Given the description of an element on the screen output the (x, y) to click on. 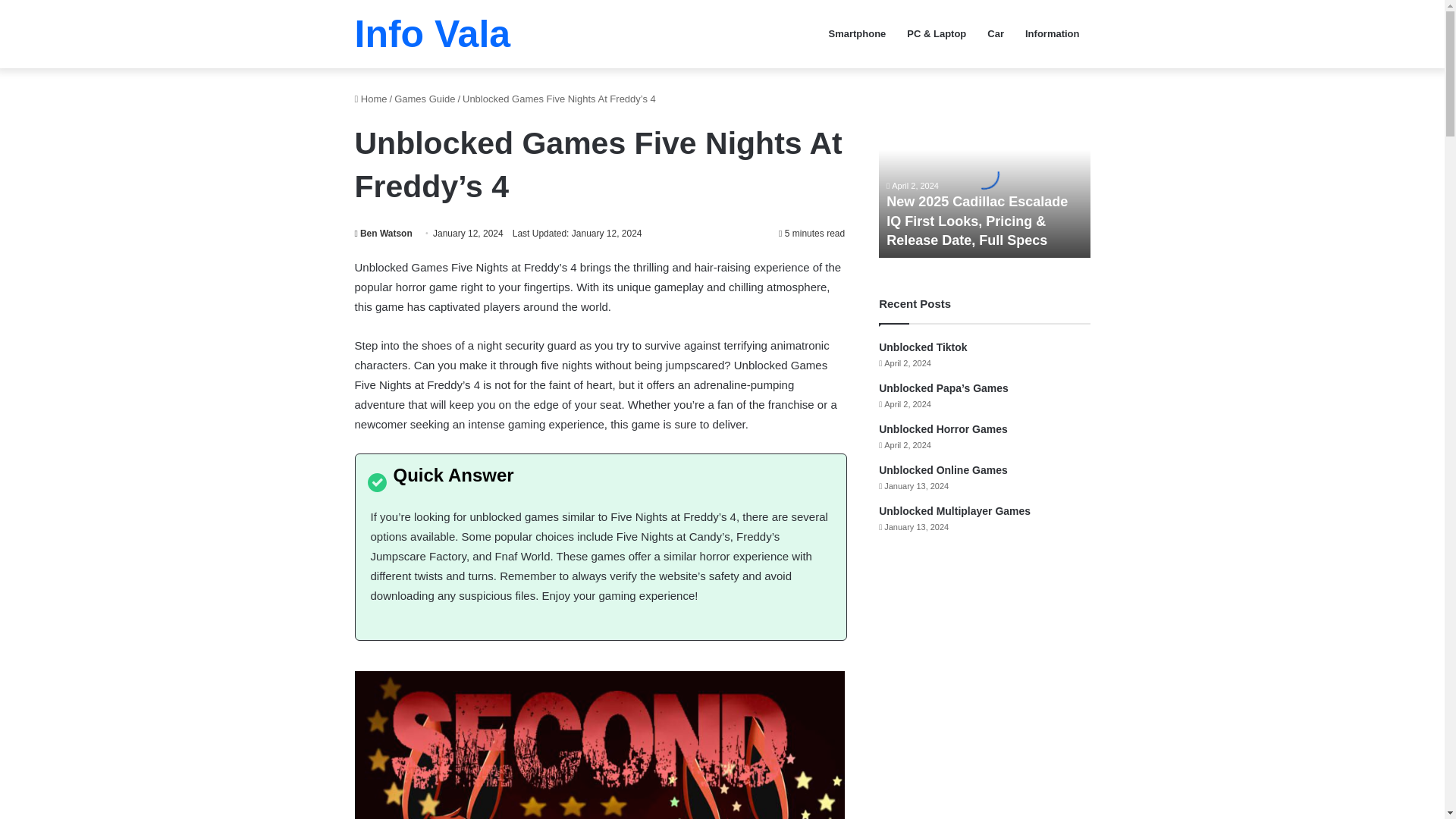
Smartphone (856, 33)
Info Vala (433, 34)
Games Guide (424, 98)
Ben Watson (383, 233)
Information (1052, 33)
Info Vala (433, 34)
Ben Watson (383, 233)
Home (371, 98)
